Given the description of an element on the screen output the (x, y) to click on. 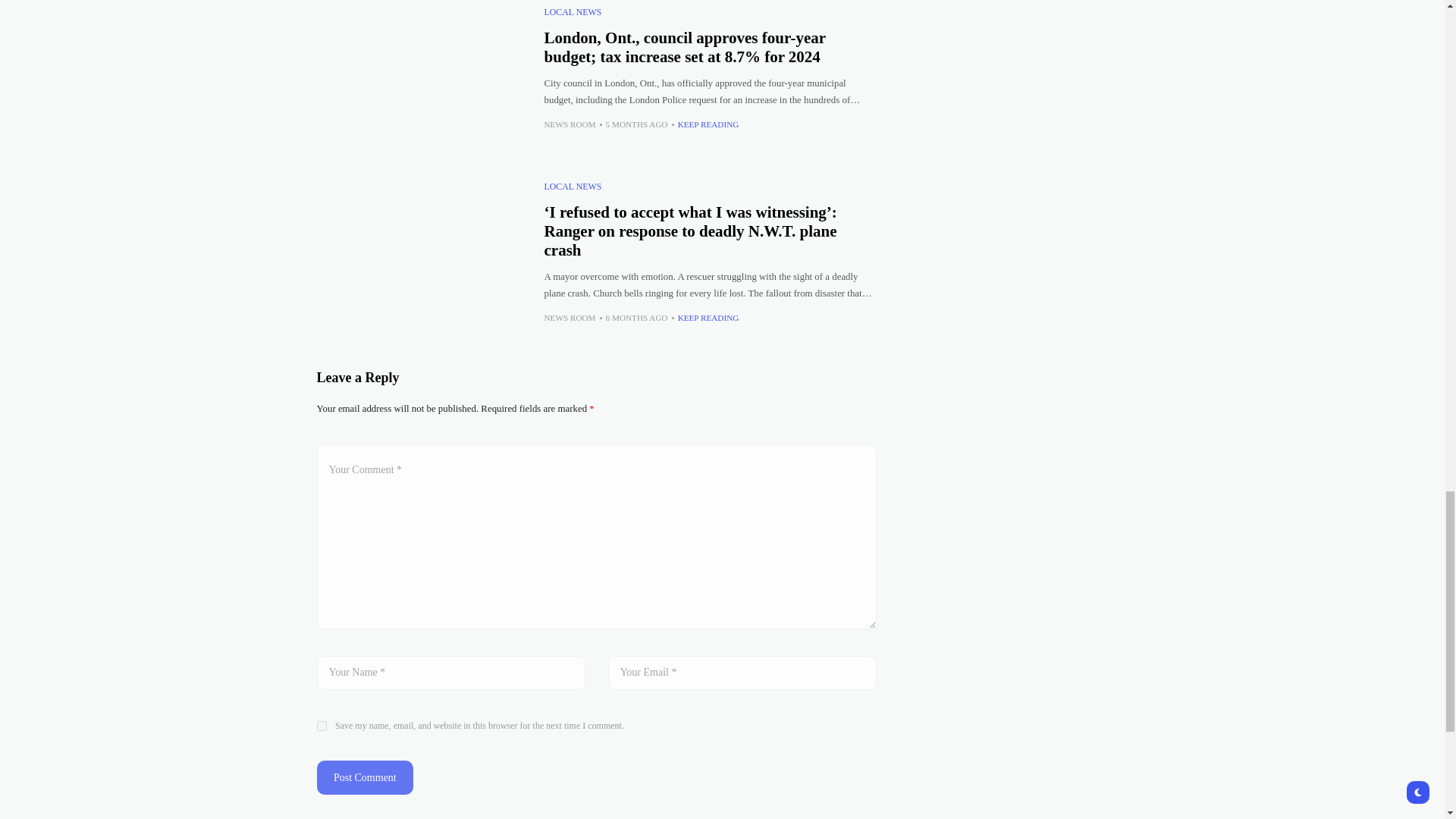
yes (321, 726)
Post Comment (365, 777)
Posts by News Room (569, 124)
